Given the description of an element on the screen output the (x, y) to click on. 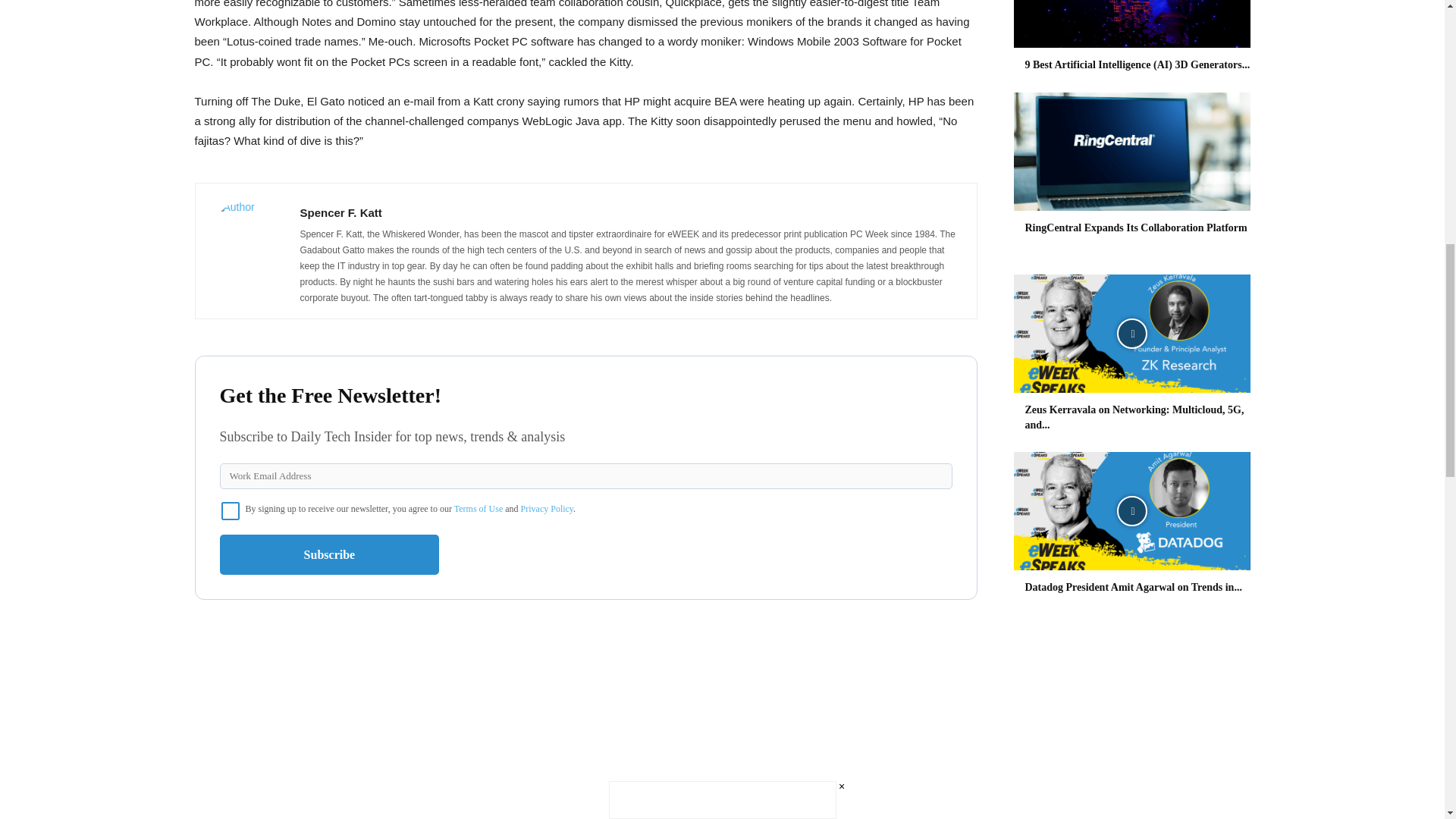
Zeus Kerravala on Networking: Multicloud, 5G, and Automation (1131, 333)
Zeus Kerravala on Networking: Multicloud, 5G, and Automation (1134, 417)
on (230, 511)
RingCentral Expands Its Collaboration Platform (1131, 151)
RingCentral Expands Its Collaboration Platform (1136, 227)
